Given the description of an element on the screen output the (x, y) to click on. 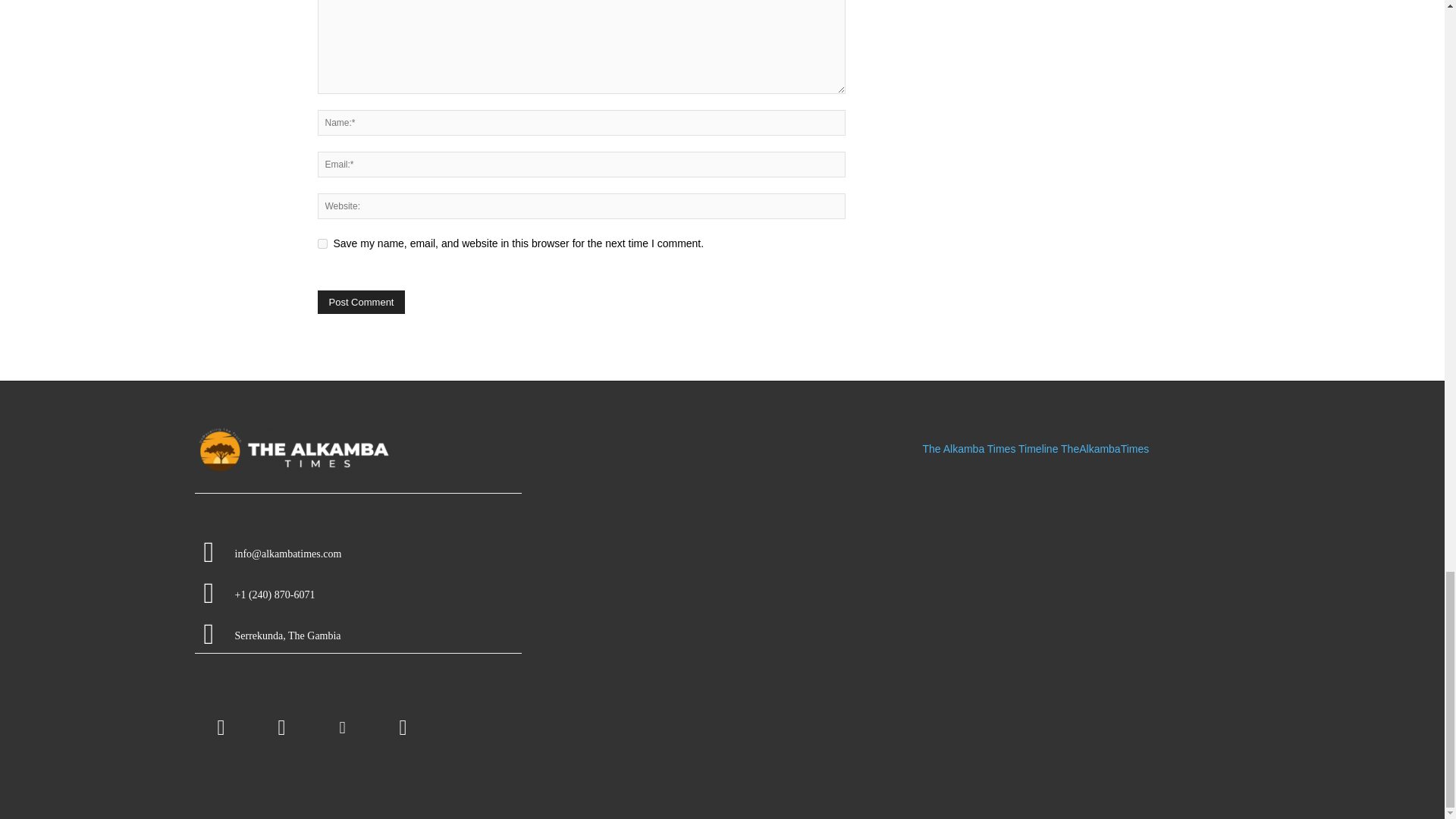
Post Comment (360, 301)
yes (321, 243)
